Given the description of an element on the screen output the (x, y) to click on. 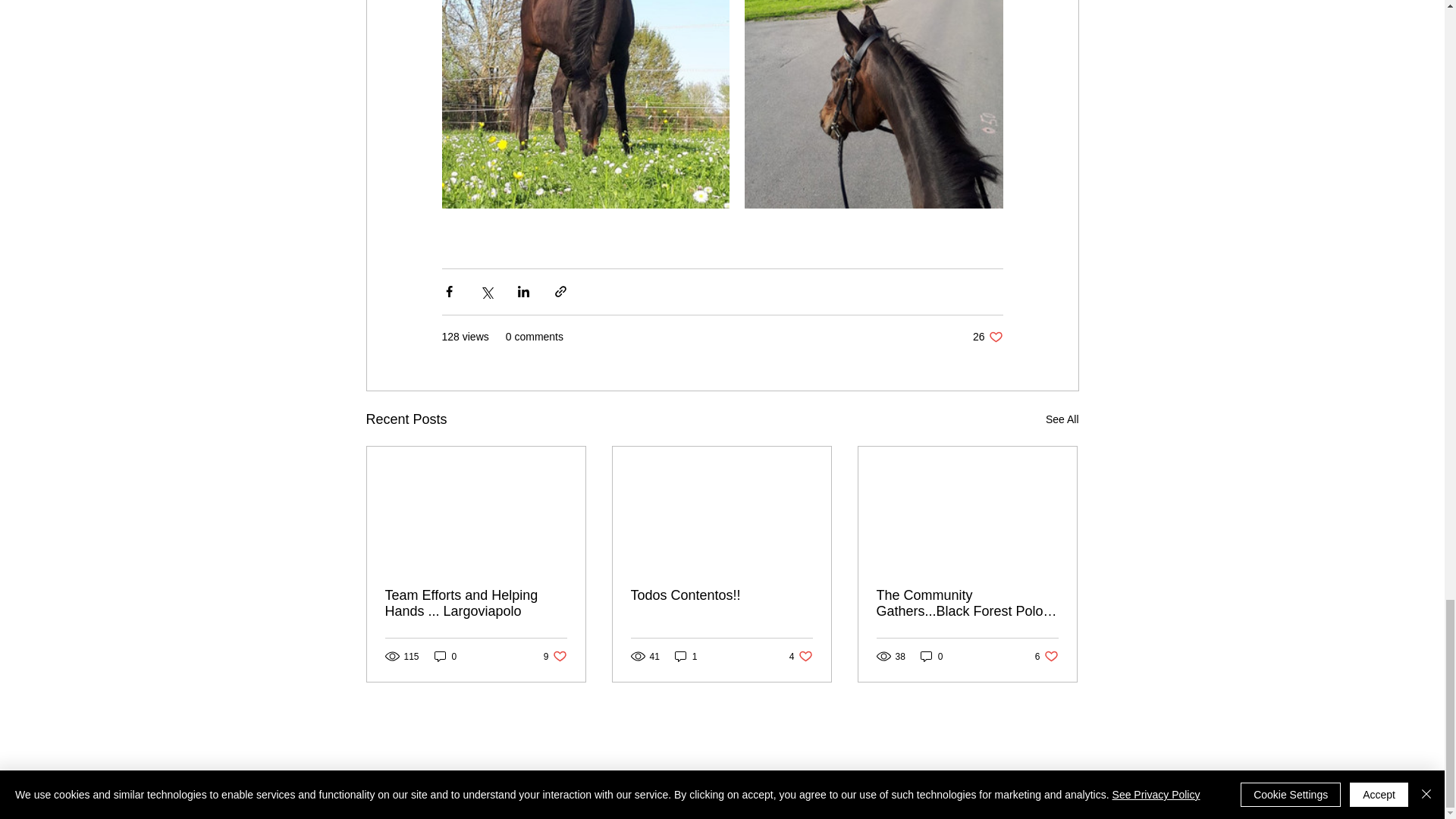
0 (931, 656)
See All (1061, 419)
Team Efforts and Helping Hands ... Largoviapolo (476, 603)
1 (685, 656)
The Community Gathers...Black Forest Polo Trophy (967, 603)
0 (445, 656)
Todos Contentos!! (1046, 656)
